Given the description of an element on the screen output the (x, y) to click on. 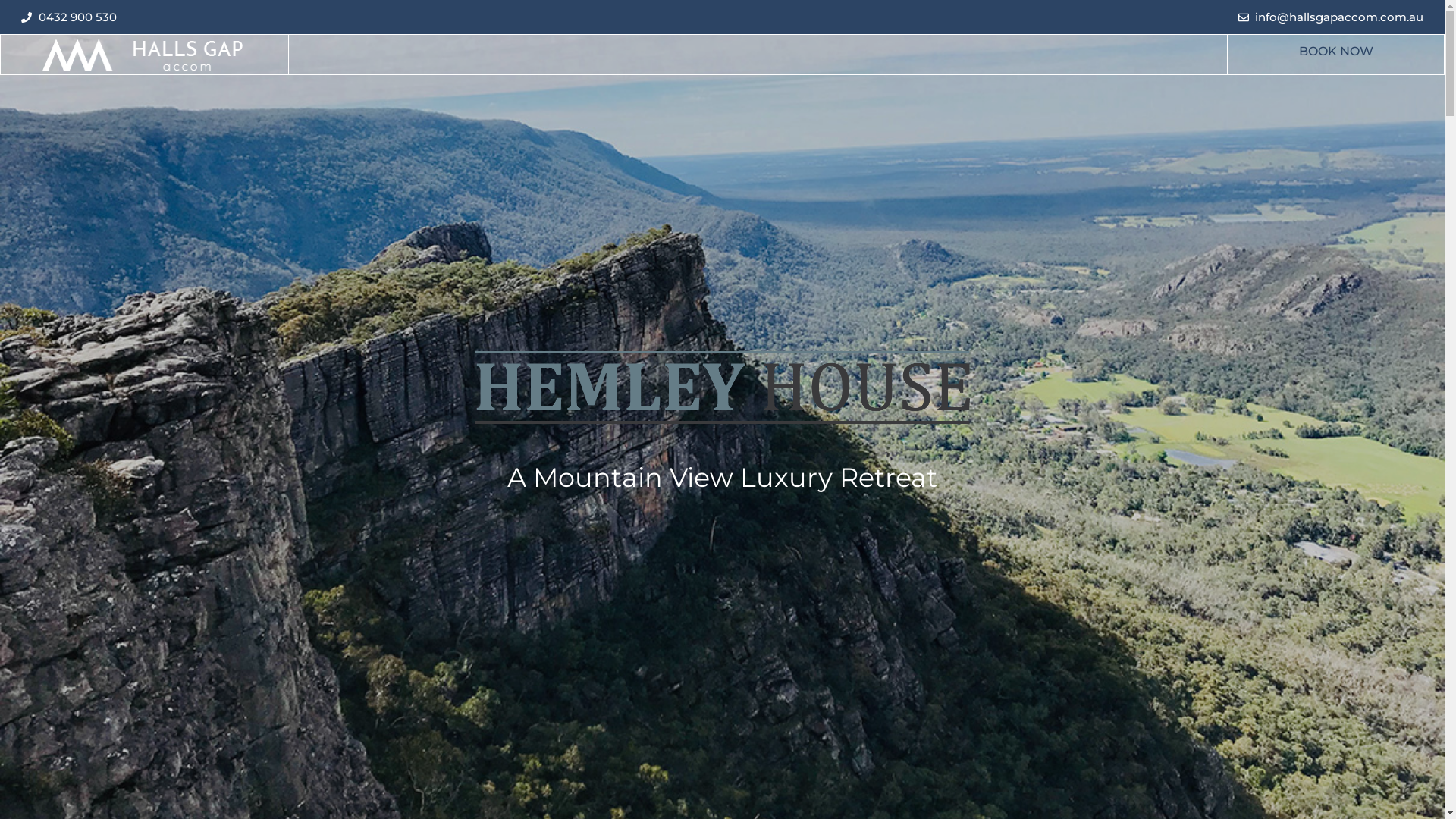
0432 900 530 Element type: text (68, 16)
info@hallsgapaccom.com.au Element type: text (1330, 16)
BOOK NOW Element type: text (1336, 50)
